Given the description of an element on the screen output the (x, y) to click on. 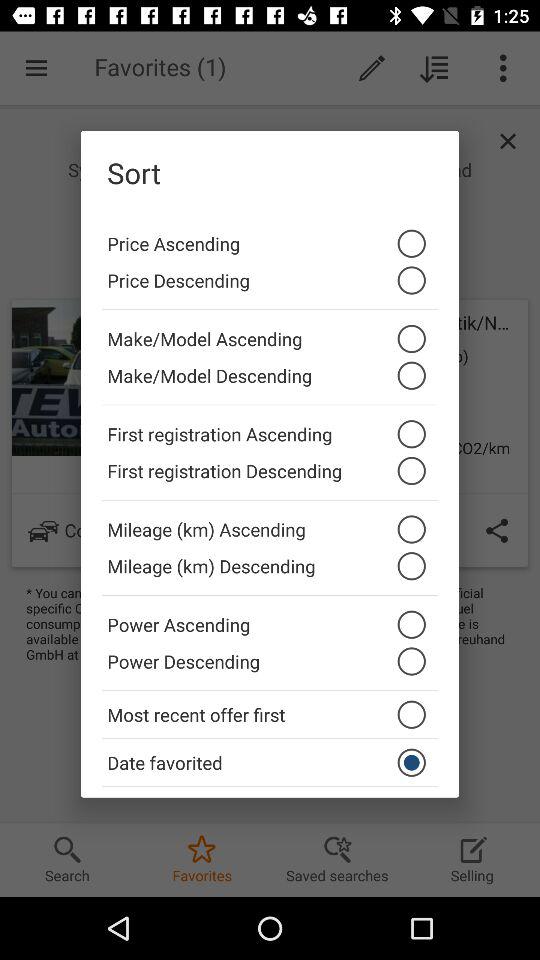
select the date favorited (269, 762)
